Given the description of an element on the screen output the (x, y) to click on. 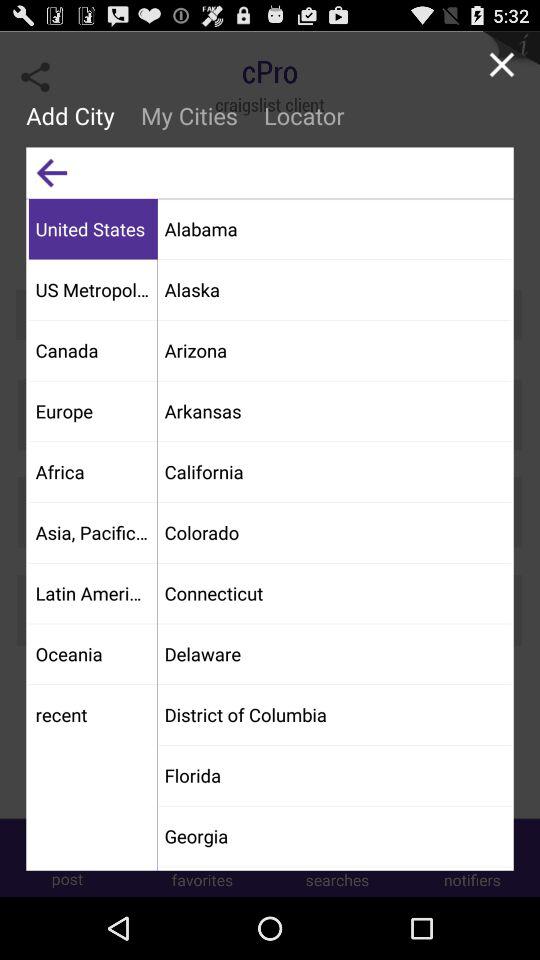
tap app above the colorado (334, 471)
